Given the description of an element on the screen output the (x, y) to click on. 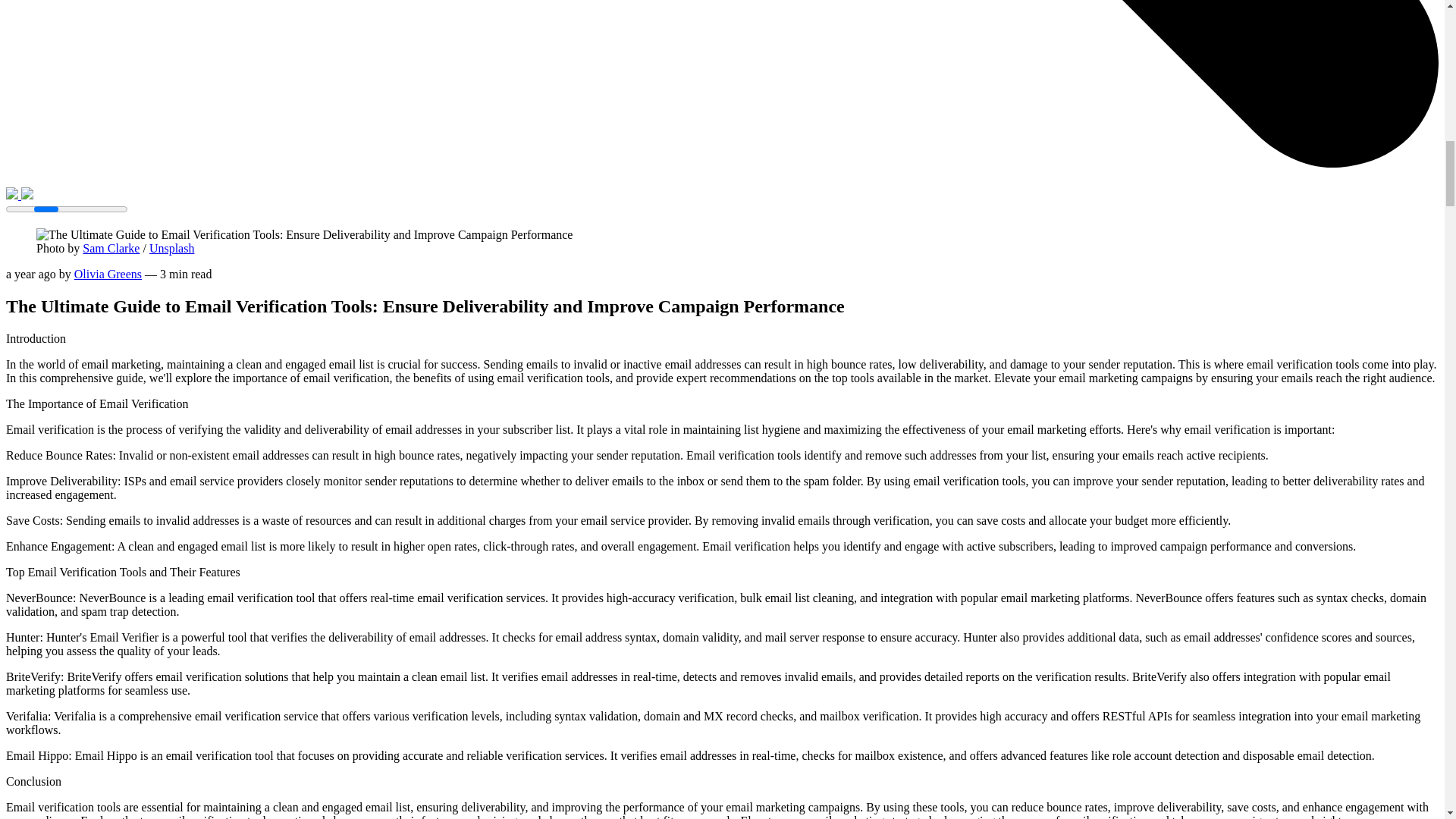
Sam Clarke (110, 247)
Unsplash (172, 247)
Olivia Greens (107, 273)
